Given the description of an element on the screen output the (x, y) to click on. 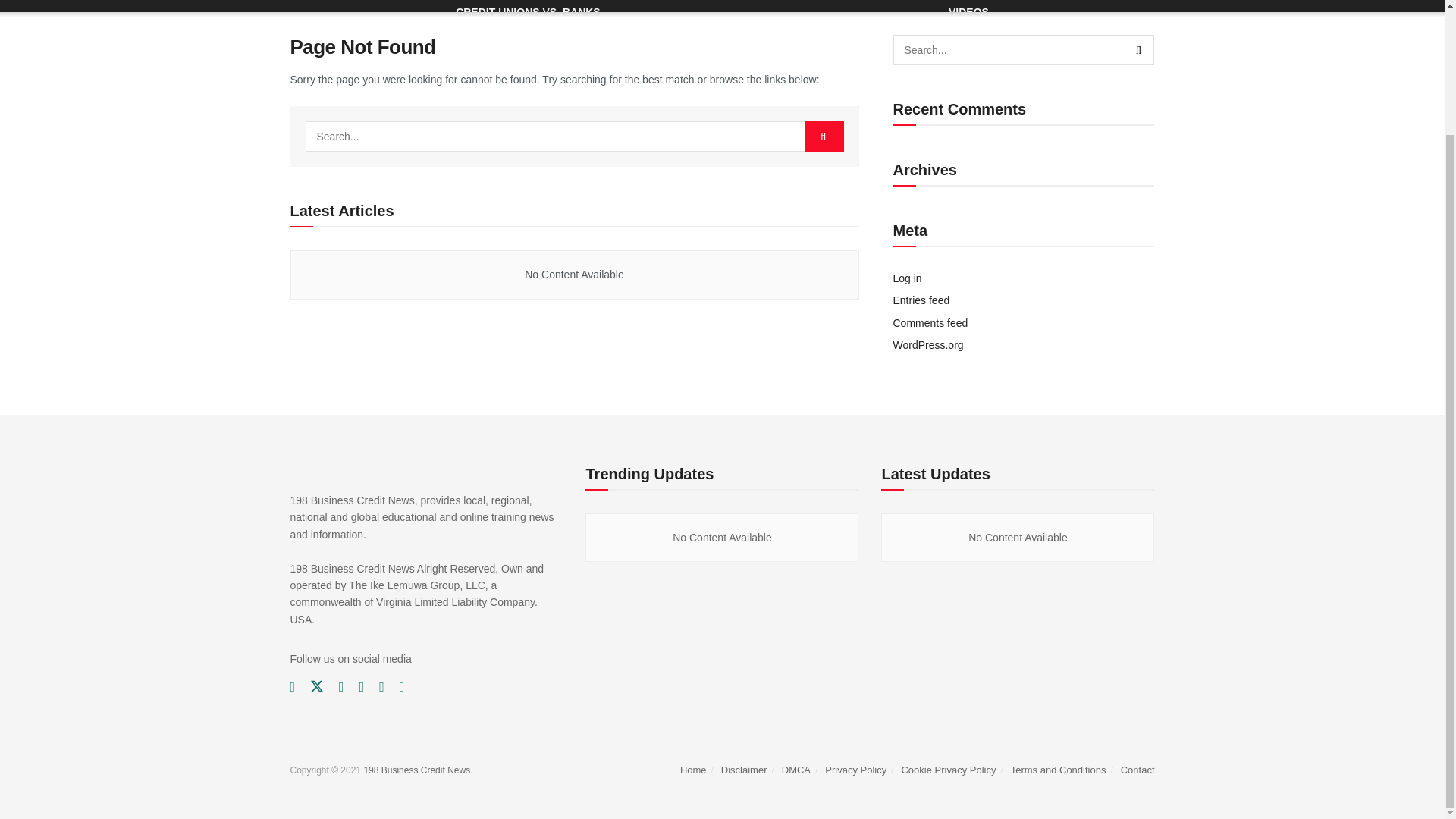
Comments feed (930, 322)
CREDIT UNIONS VS. BANKS (527, 13)
Entries feed (921, 300)
VIDEOS (968, 13)
198 Business Credit News (416, 769)
WordPress.org (928, 345)
Log in (907, 277)
